Given the description of an element on the screen output the (x, y) to click on. 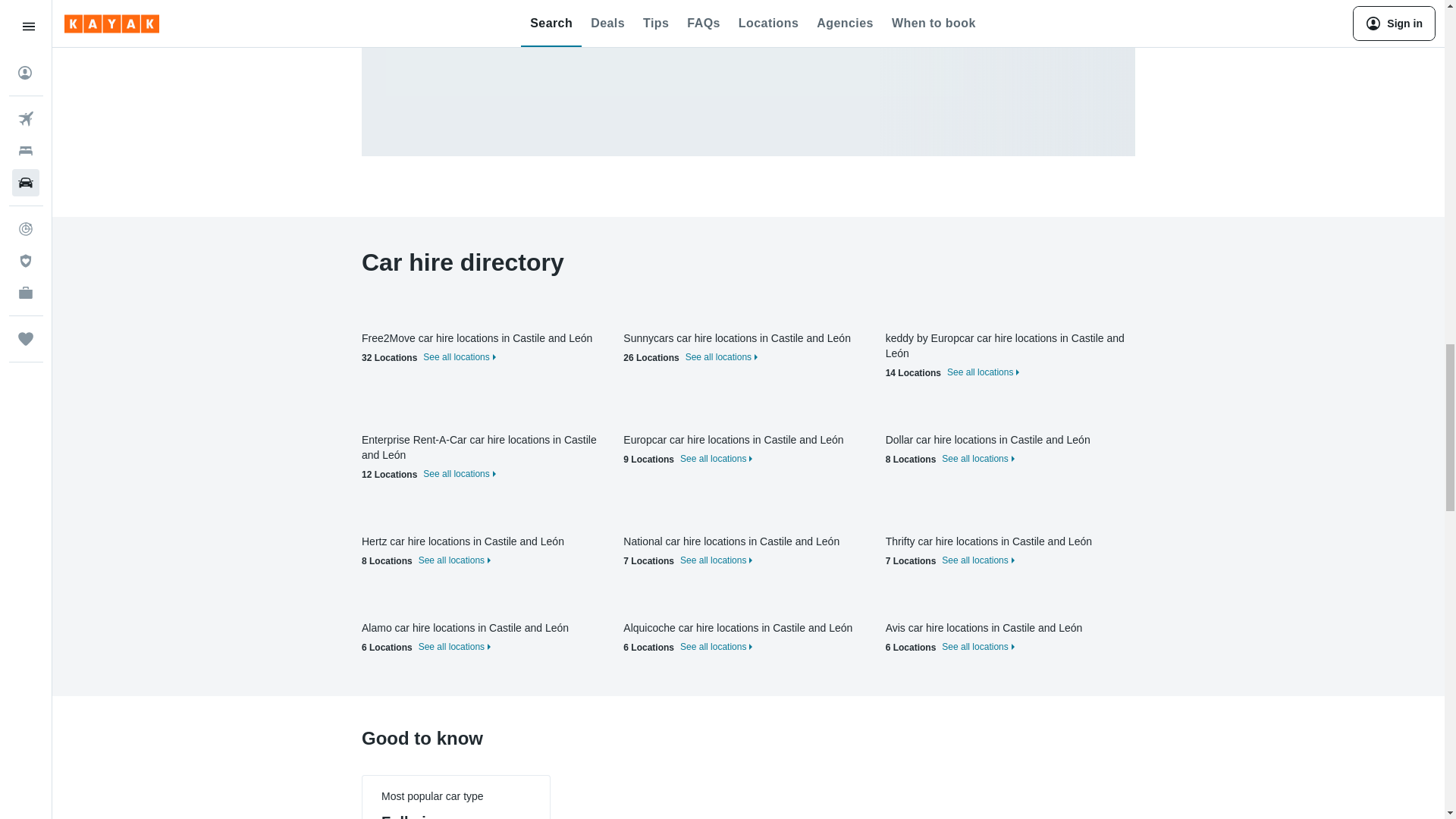
See all locations (976, 560)
See all locations (452, 560)
Full-size (411, 816)
See all locations (456, 357)
See all locations (719, 357)
See all locations (452, 646)
See all locations (976, 458)
See all locations (981, 371)
See all locations (714, 458)
See all locations (714, 646)
See all locations (976, 646)
See all locations (456, 473)
See all locations (714, 560)
